Given the description of an element on the screen output the (x, y) to click on. 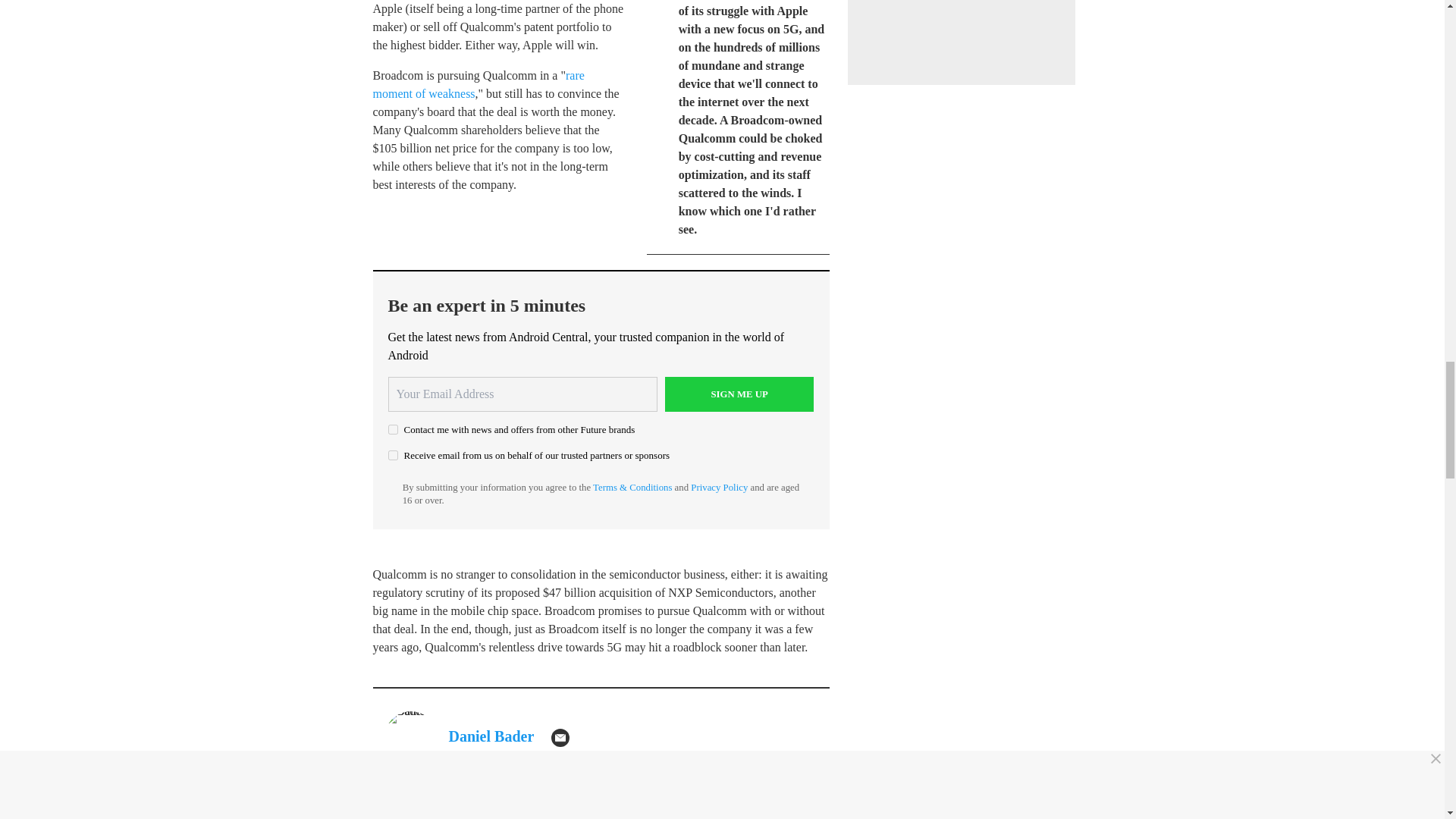
Sign me up (739, 393)
on (392, 429)
on (392, 455)
